Given the description of an element on the screen output the (x, y) to click on. 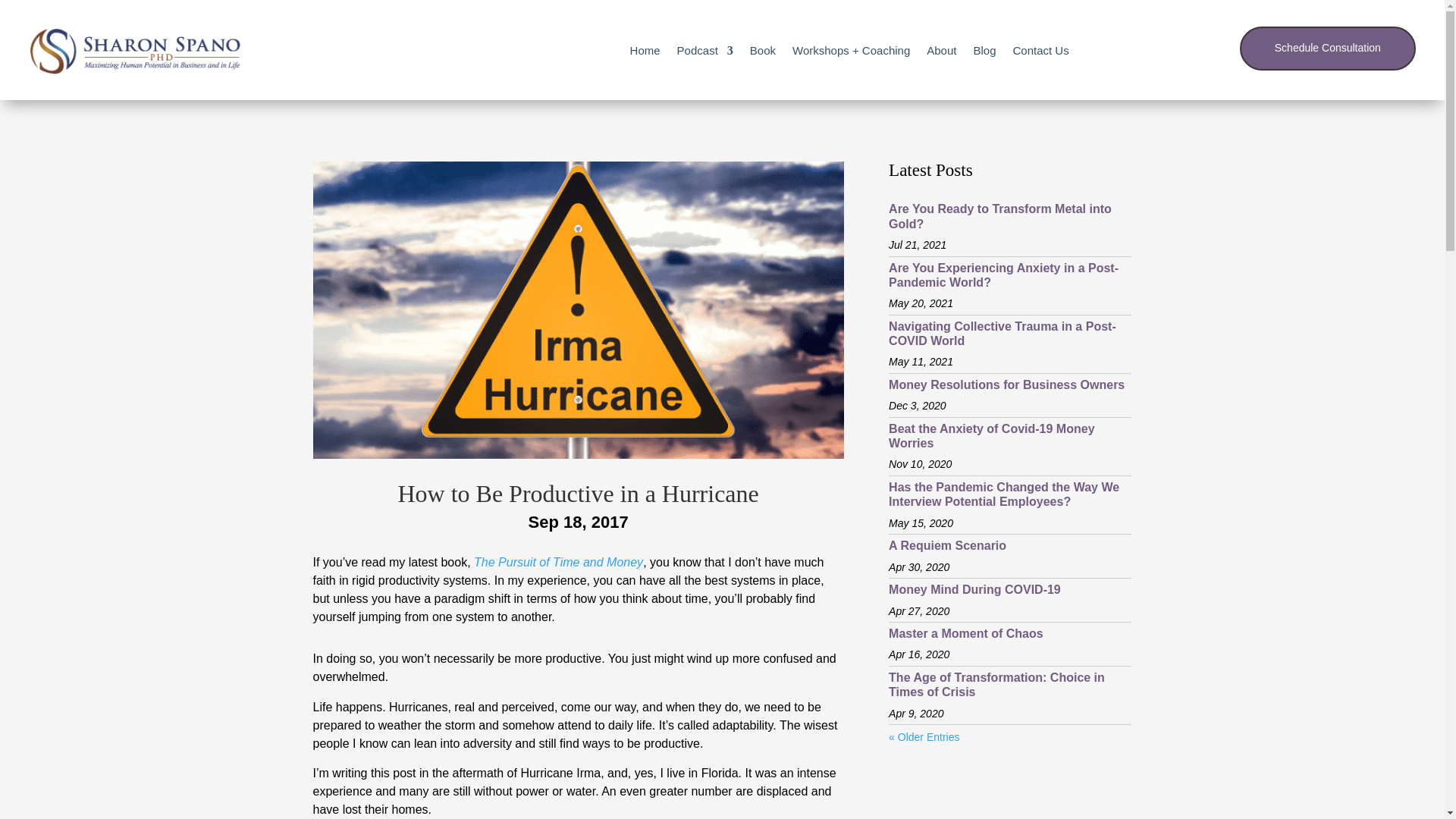
Money Mind During COVID-19 (974, 589)
Contact Us (1039, 50)
The Age of Transformation: Choice in Times of Crisis (996, 684)
Money Resolutions for Business Owners (1006, 384)
Are You Experiencing Anxiety in a Post-Pandemic World? (1003, 275)
Are You Ready to Transform Metal into Gold? (1000, 216)
Beat the Anxiety of Covid-19 Money Worries (991, 435)
Schedule Consultation (1327, 48)
Navigating Collective Trauma in a Post-COVID World (1002, 333)
The Pursuit of Time and Money (558, 562)
